Given the description of an element on the screen output the (x, y) to click on. 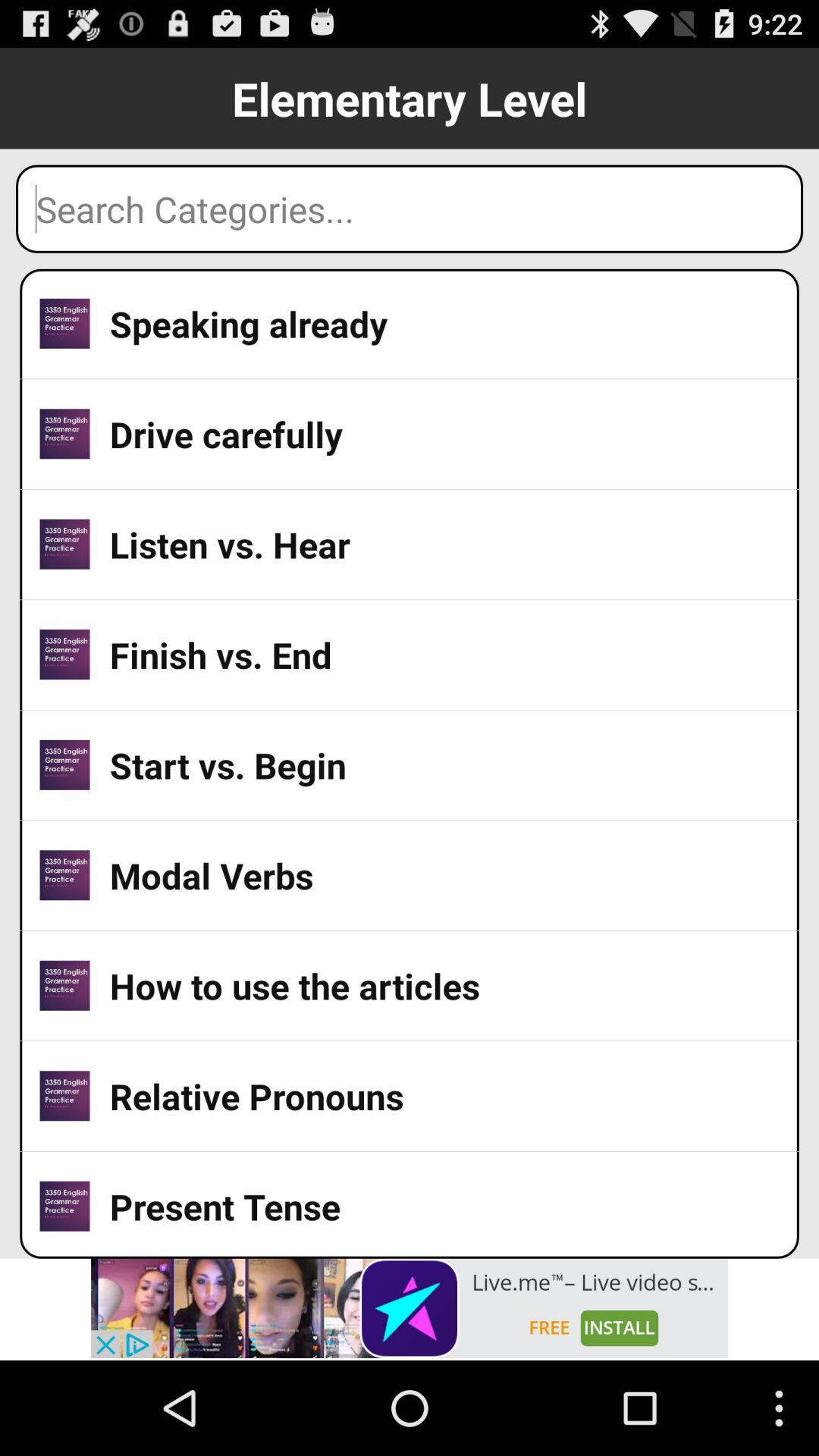
enter search text (409, 208)
